Given the description of an element on the screen output the (x, y) to click on. 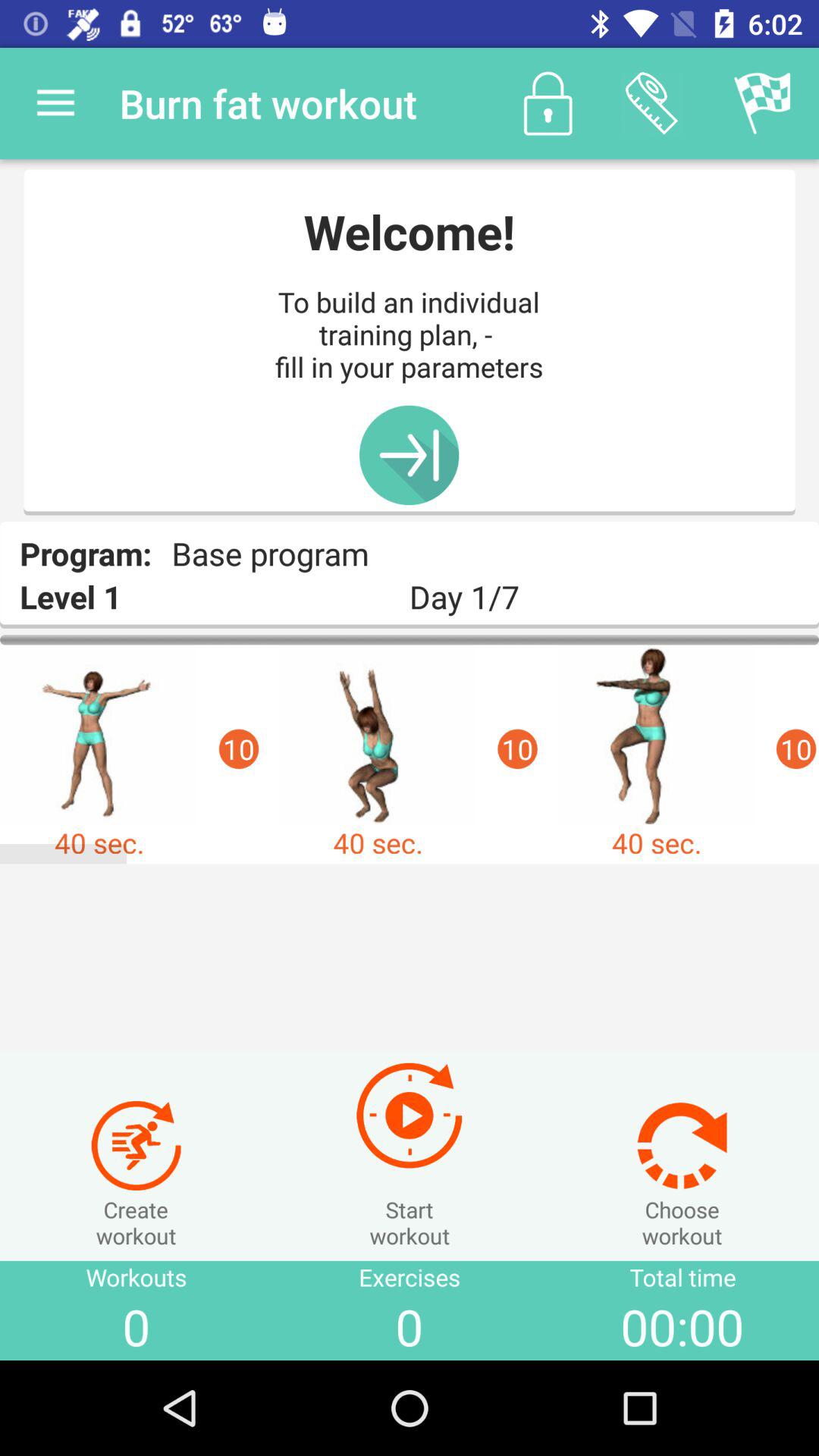
click the app next to the burn fat workout item (55, 103)
